Given the description of an element on the screen output the (x, y) to click on. 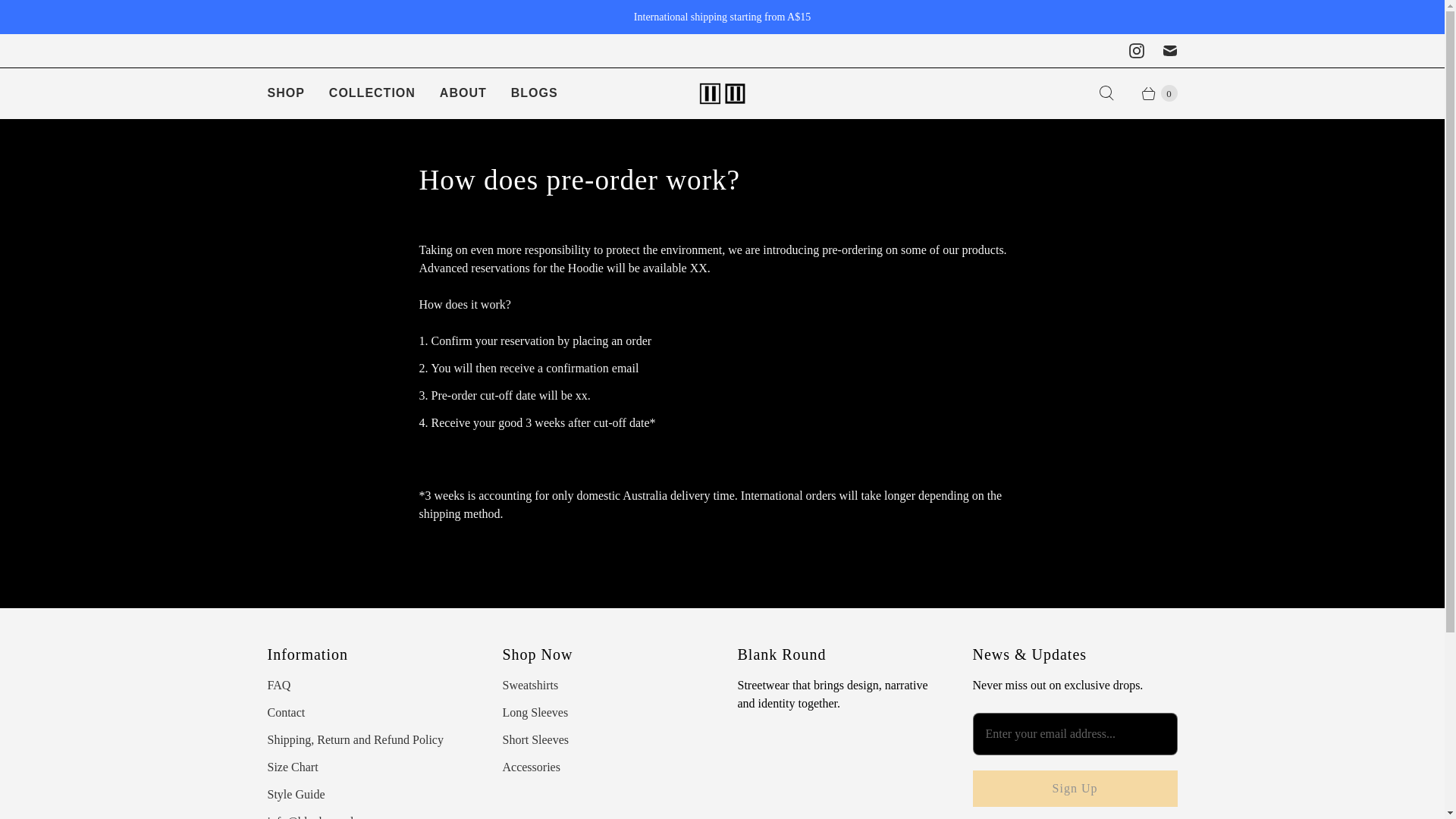
Long Sleeves (534, 712)
Short Sleeves (535, 739)
Sign Up (1074, 788)
Style Guide (295, 793)
Sweatshirts (529, 684)
Size Chart (291, 766)
Sign Up (1074, 788)
Contact (285, 712)
Shipping, Return and Refund Policy (354, 739)
ABOUT (463, 93)
0 (1151, 93)
SHOP (284, 93)
COLLECTION (372, 93)
FAQ (277, 684)
Accessories (530, 766)
